Given the description of an element on the screen output the (x, y) to click on. 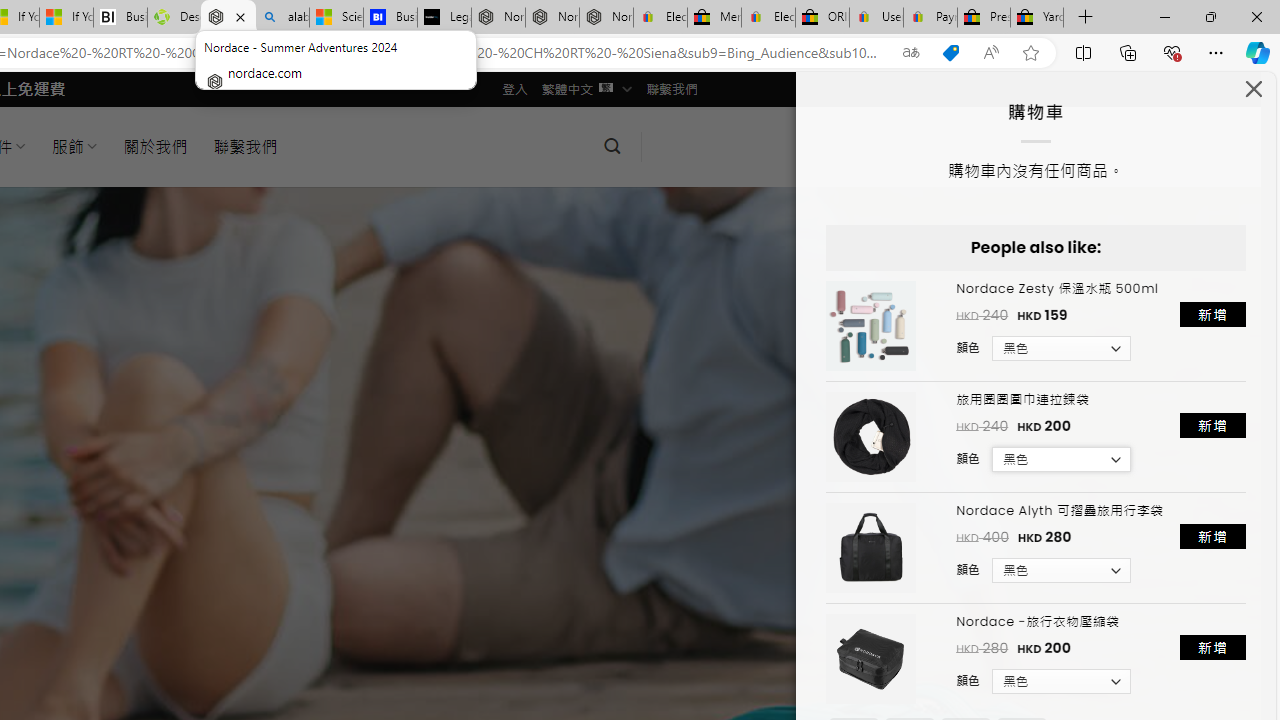
Payments Terms of Use | eBay.com (930, 17)
This site has coupons! Shopping in Microsoft Edge (950, 53)
User Privacy Notice | eBay (875, 17)
  0   (679, 146)
